Given the description of an element on the screen output the (x, y) to click on. 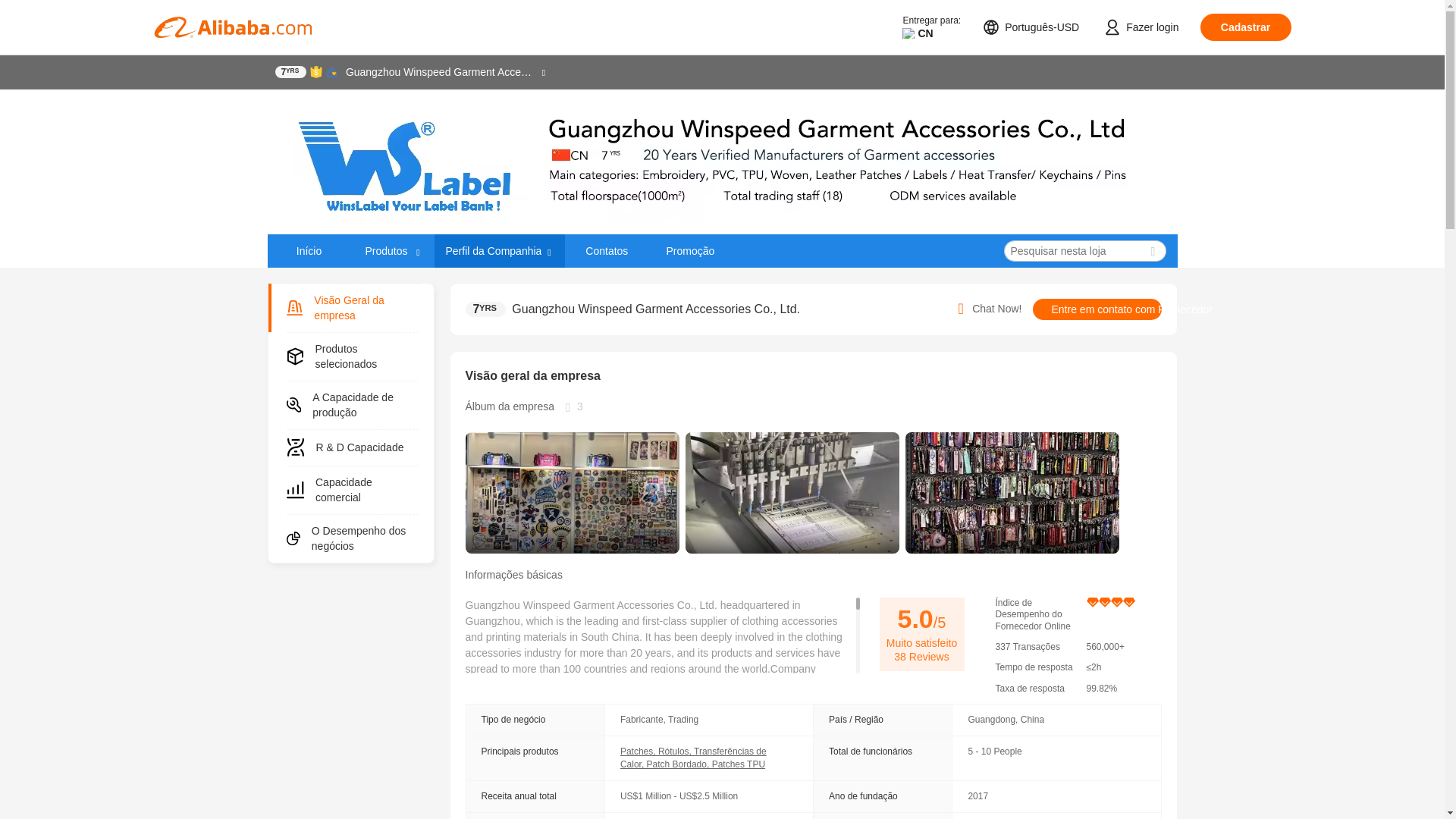
What is Gold Supplier? (290, 71)
Produtos (386, 250)
Produtos (391, 250)
7YRS (290, 71)
